Given the description of an element on the screen output the (x, y) to click on. 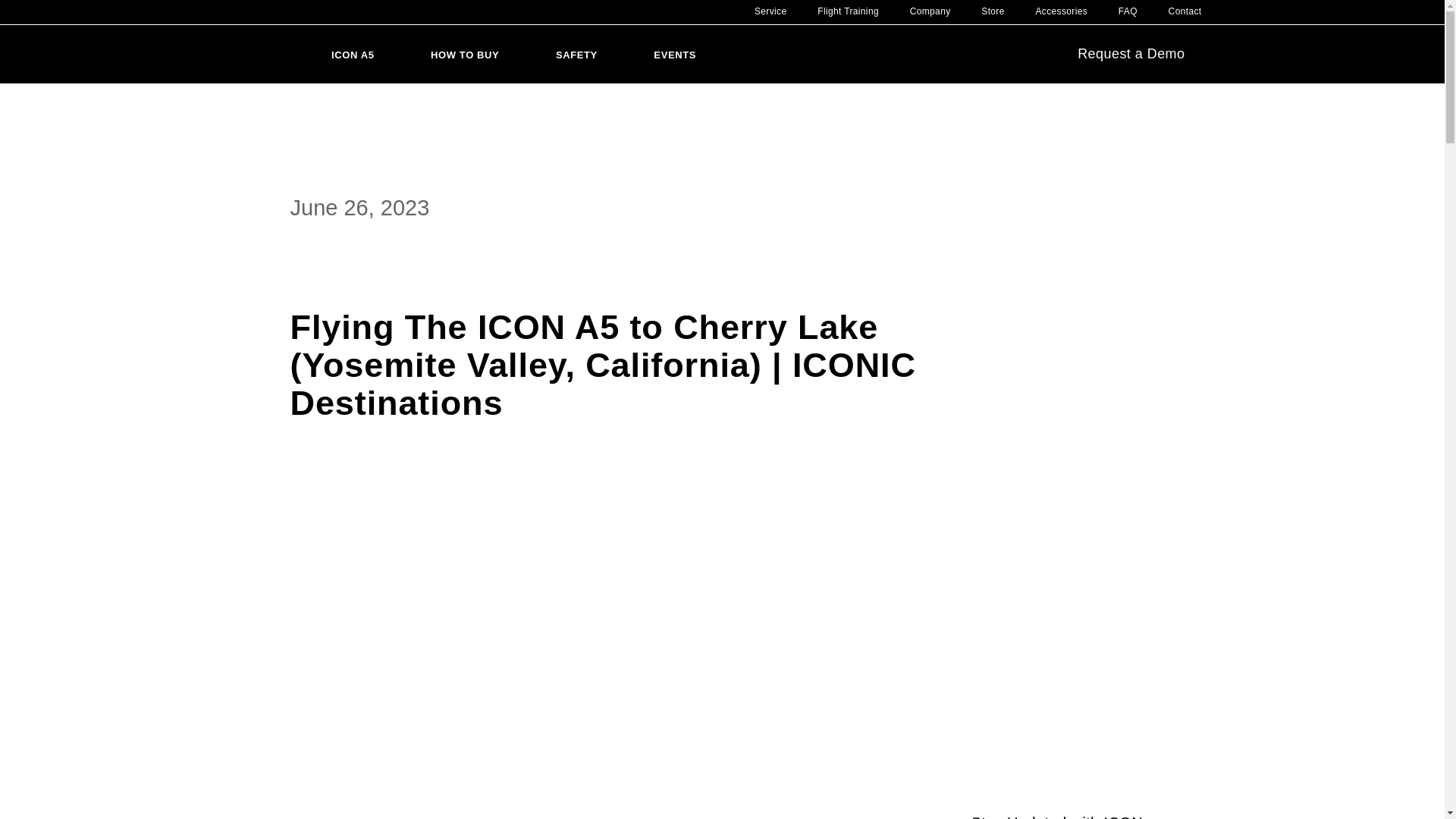
HOW TO BUY (464, 53)
Request a Demo (1143, 54)
Contact (1185, 10)
Company (930, 10)
Service (770, 10)
Flight Training (847, 10)
FAQ (1127, 10)
Store (992, 10)
Accessories (1061, 10)
